Given the description of an element on the screen output the (x, y) to click on. 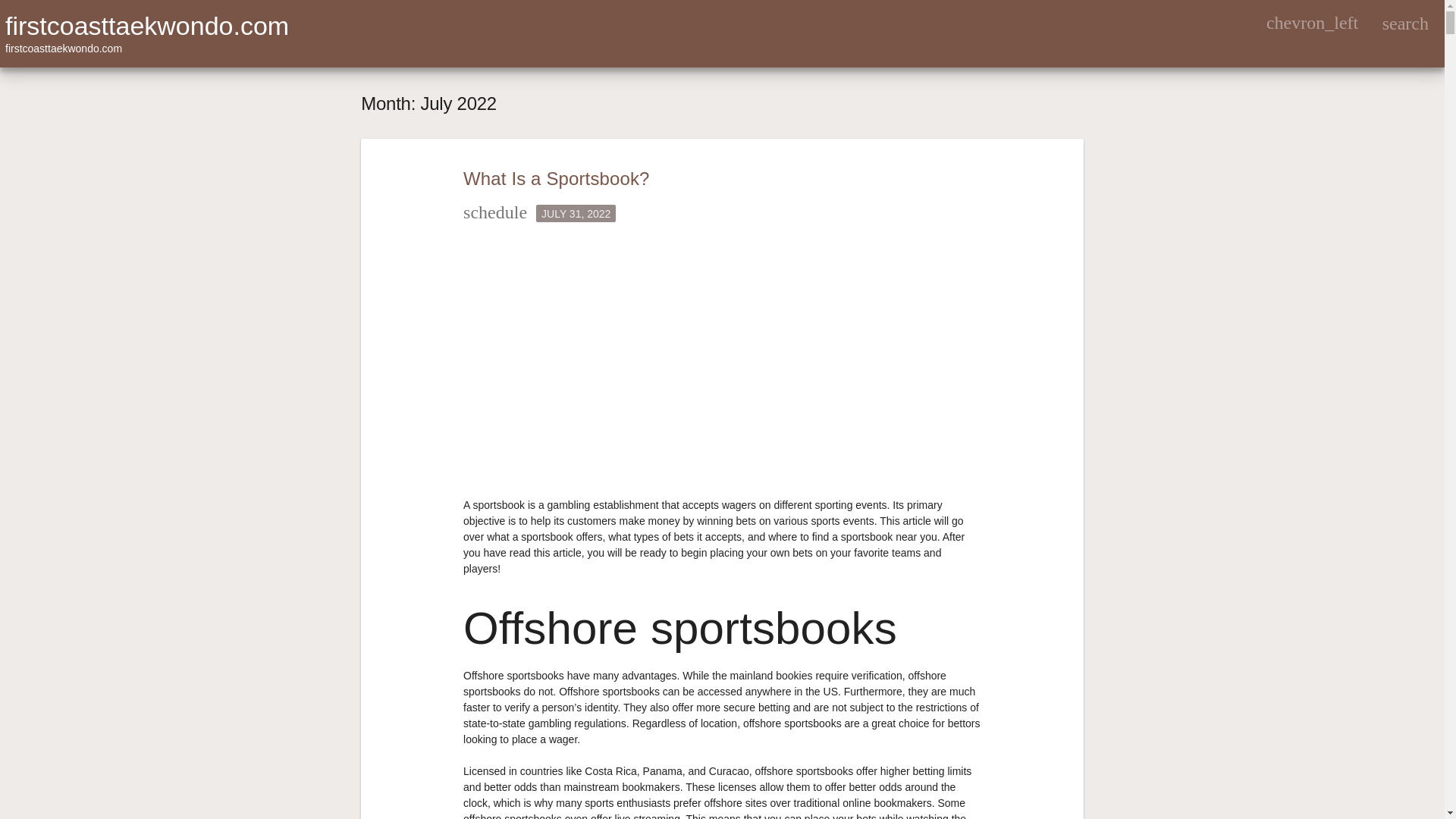
What Is a Sportsbook? (556, 178)
firstcoasttaekwondo.com (146, 25)
search (1404, 22)
JULY 31, 2022 (575, 212)
